Given the description of an element on the screen output the (x, y) to click on. 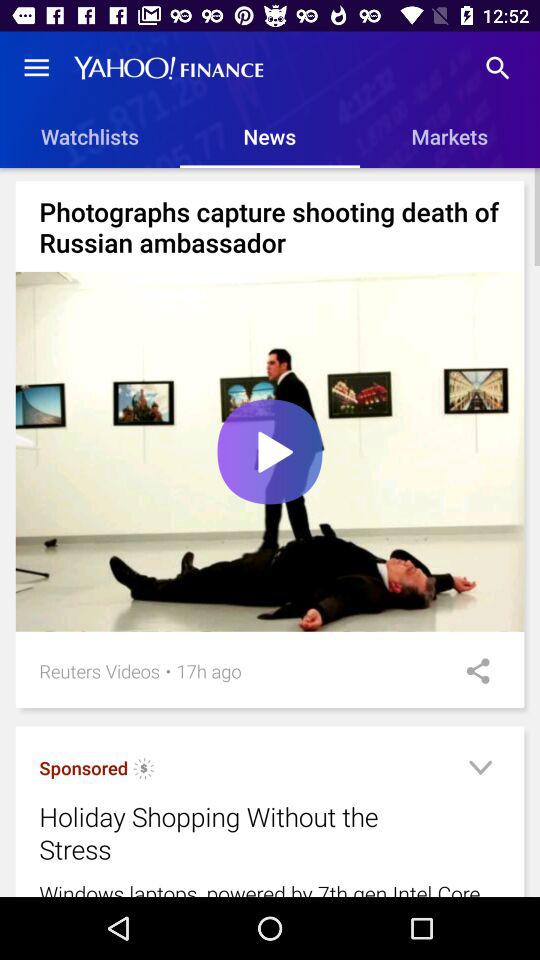
scroll to 17h ago icon (208, 670)
